Given the description of an element on the screen output the (x, y) to click on. 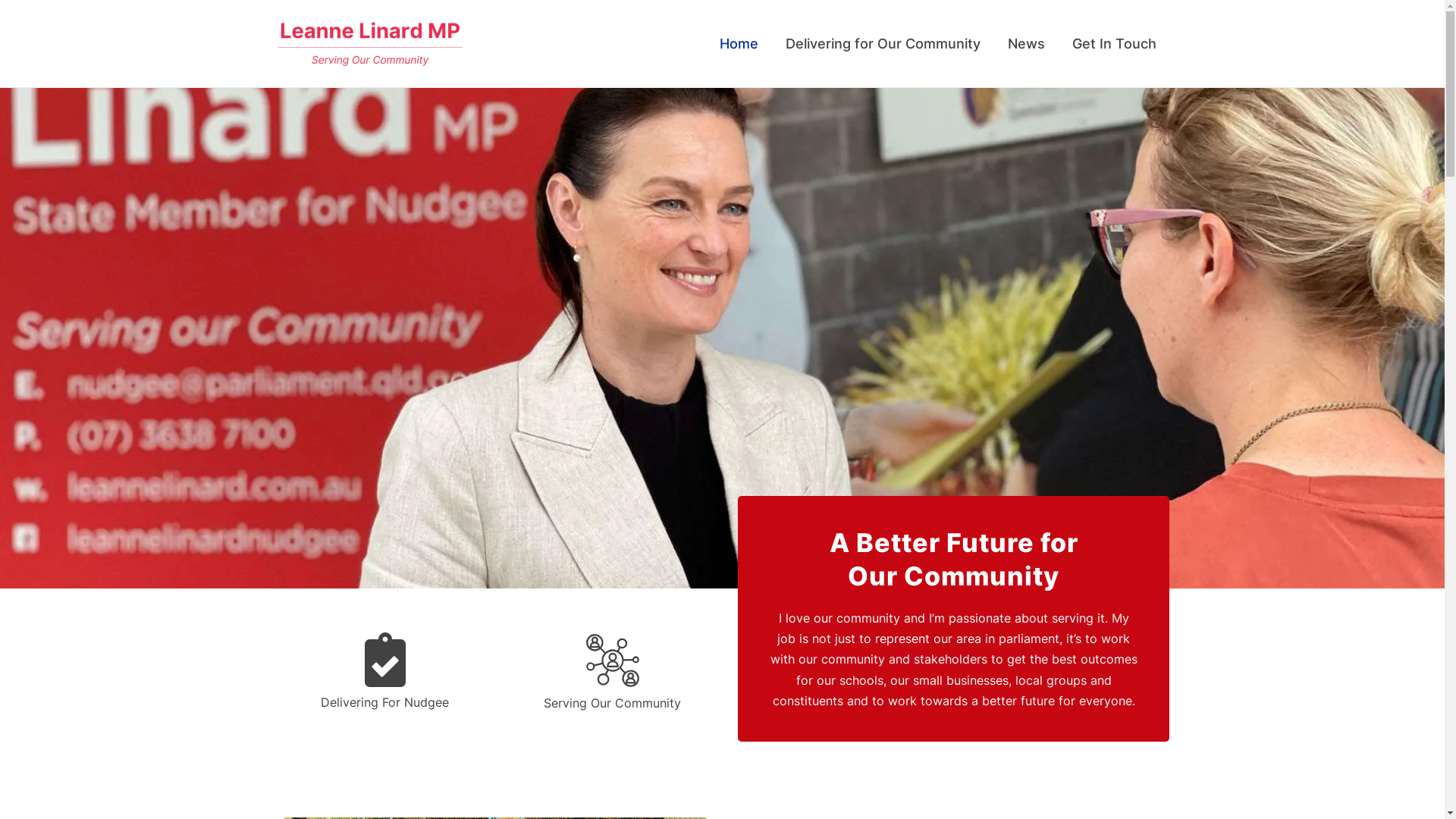
Delivering for Our Community Element type: text (882, 43)
Home Element type: text (738, 43)
Get In Touch Element type: text (1114, 43)
Serving Our Community Element type: text (611, 702)
News Element type: text (1025, 43)
Delivering For Nudgee Element type: text (384, 701)
